Given the description of an element on the screen output the (x, y) to click on. 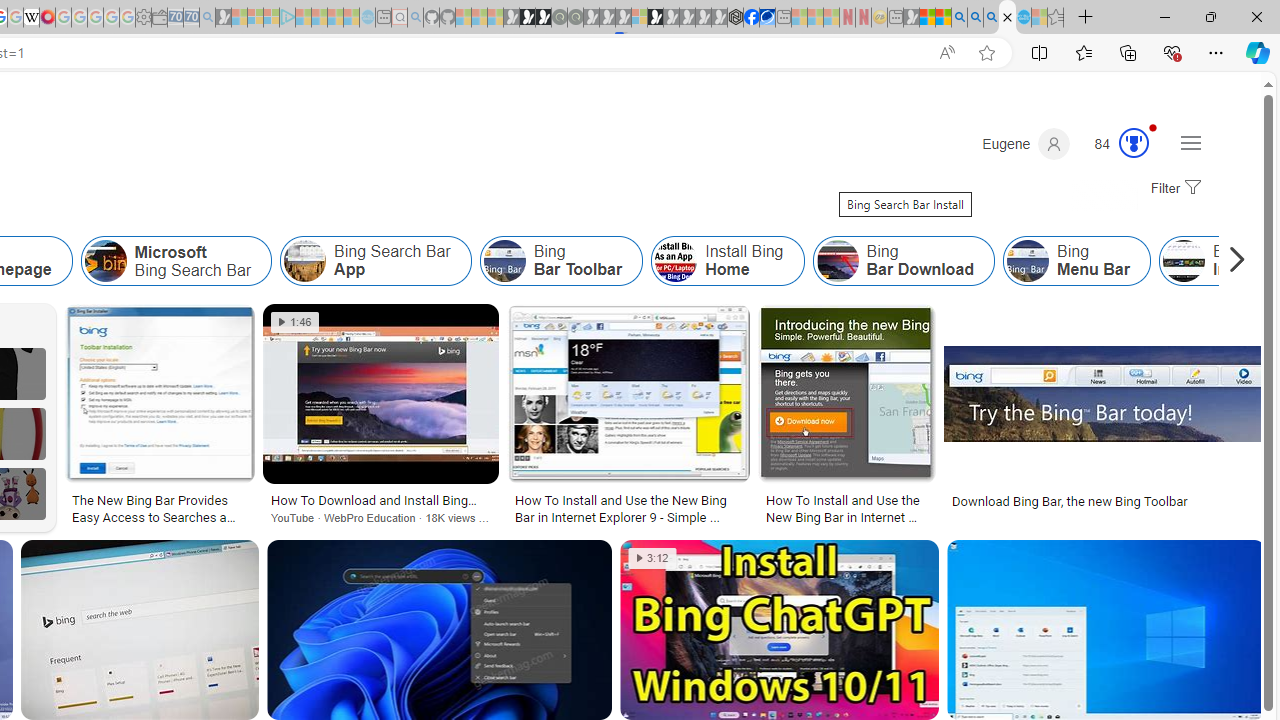
Home | Sky Blue Bikes - Sky Blue Bikes - Sleeping (367, 17)
AutomationID: serp_medal_svg (1133, 142)
Microsoft Bing Search Bar (105, 260)
Services - Maintenance | Sky Blue Bikes - Sky Blue Bikes (1023, 17)
Bing Search Bar App (376, 260)
AirNow.gov (767, 17)
